Given the description of an element on the screen output the (x, y) to click on. 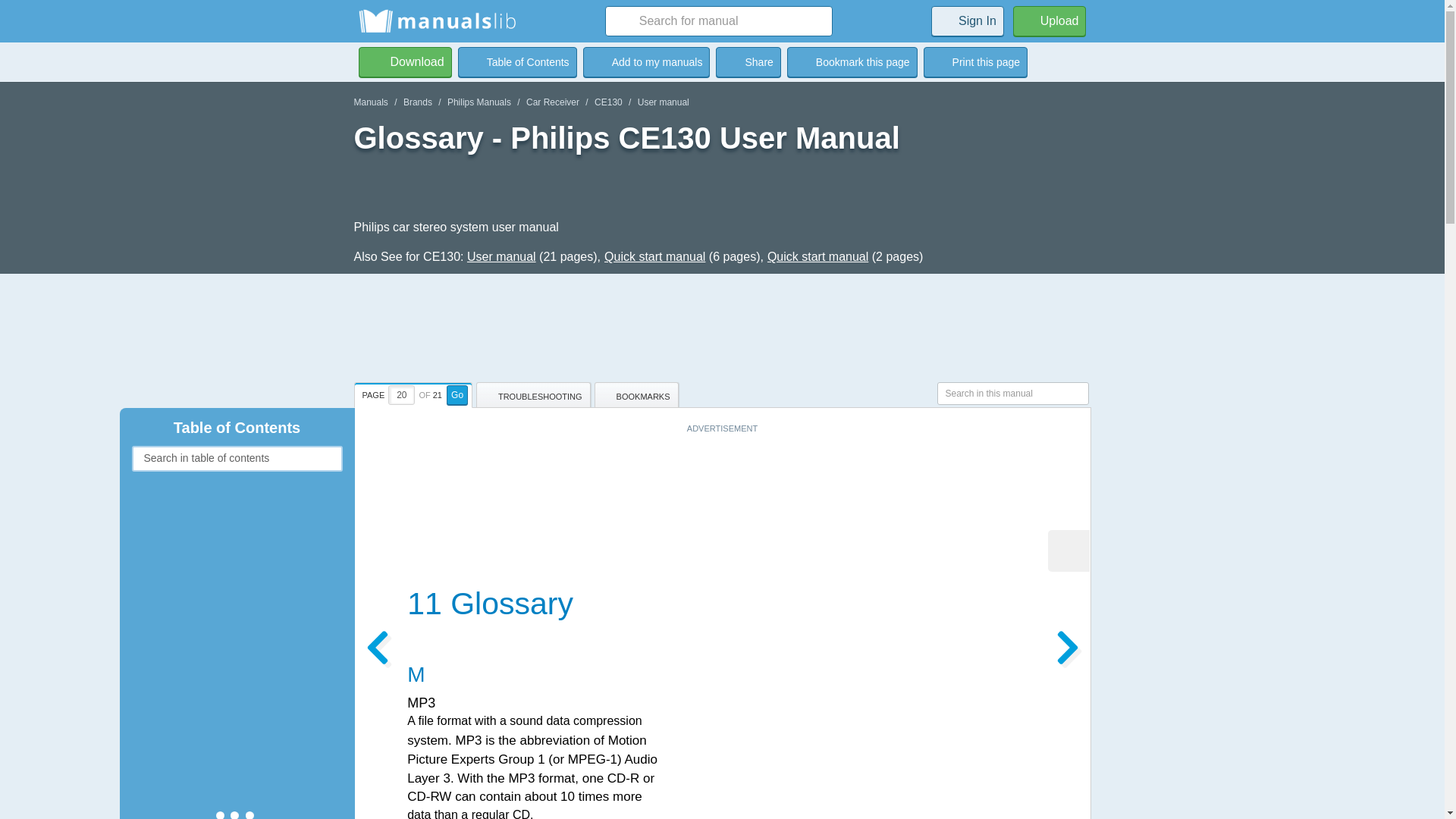
Sign In (967, 20)
Print this page (975, 61)
Print this page (975, 61)
Share (748, 61)
Add to my manuals (646, 61)
Bookmark this manual (852, 61)
CE130 (608, 102)
Manuals (370, 102)
Brands (417, 102)
Bookmark this manual (646, 61)
Quick start manual (817, 256)
User manual (662, 102)
Philips Manuals (478, 102)
Car Receiver (552, 102)
Share this manual (748, 61)
